Given the description of an element on the screen output the (x, y) to click on. 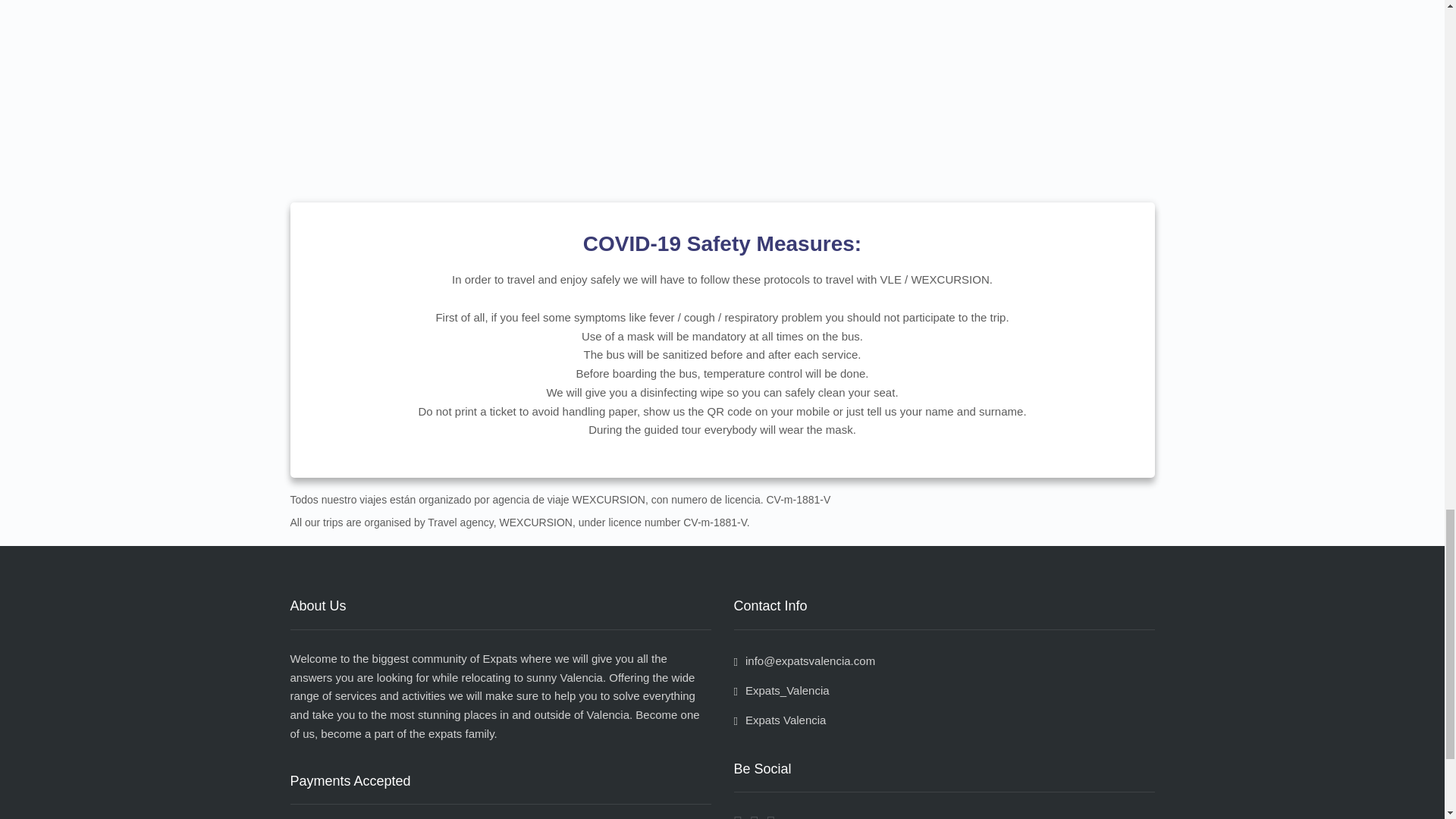
Expats Valencia (780, 719)
